Given the description of an element on the screen output the (x, y) to click on. 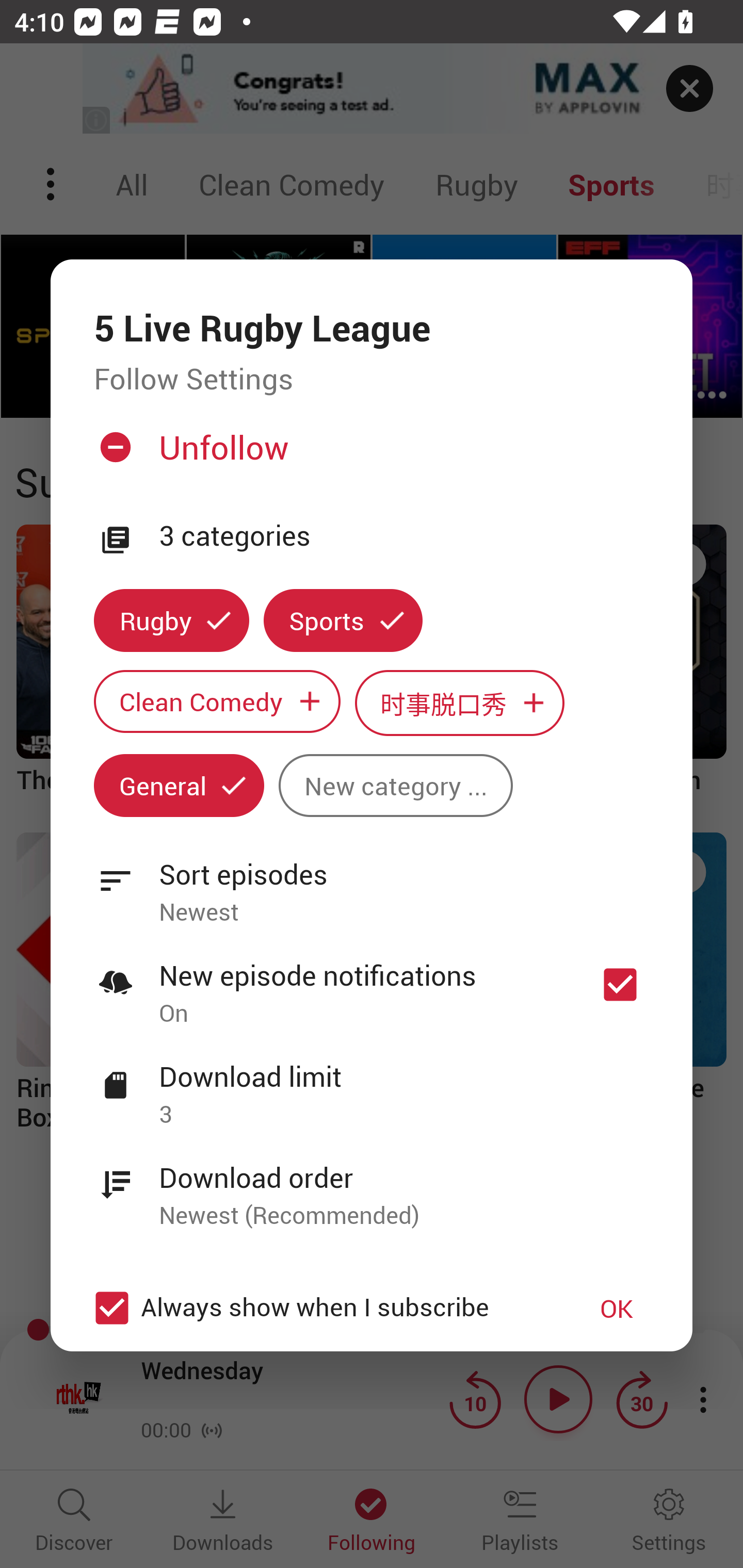
Unfollow (369, 454)
3 categories (404, 535)
Rugby (170, 620)
Sports (342, 620)
Clean Comedy (216, 700)
时事脱口秀 (459, 702)
General (178, 785)
New category ... (395, 785)
Sort episodes Newest (371, 881)
New episode notifications (620, 984)
Download limit 3 (371, 1084)
Download order Newest (Recommended) (371, 1185)
OK (616, 1308)
Always show when I subscribe (320, 1308)
